Given the description of an element on the screen output the (x, y) to click on. 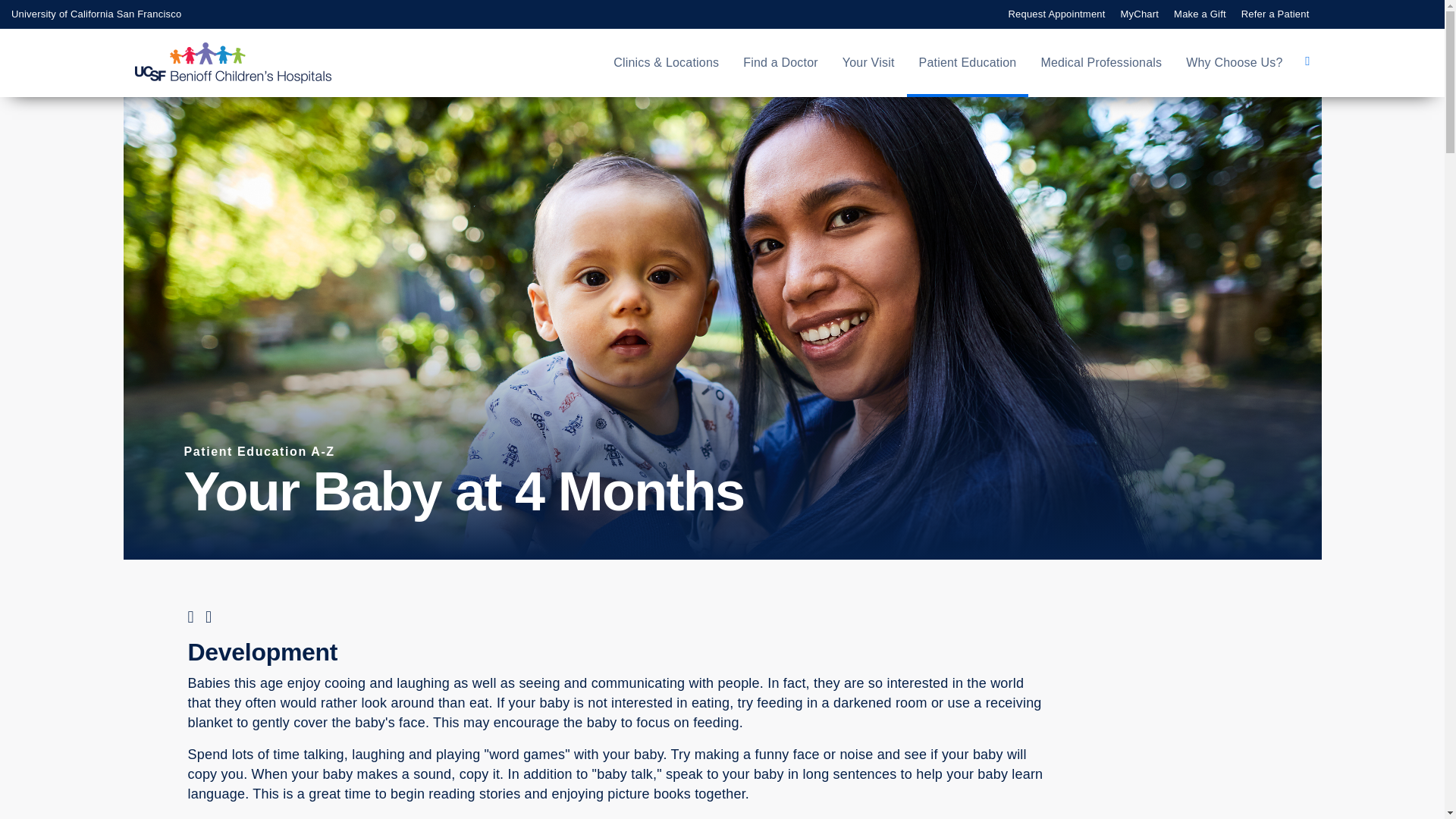
University of California San Francisco (95, 13)
Your Visit (868, 62)
Find a Doctor (779, 62)
Patient Education (968, 62)
Homepage icon (248, 62)
